Given the description of an element on the screen output the (x, y) to click on. 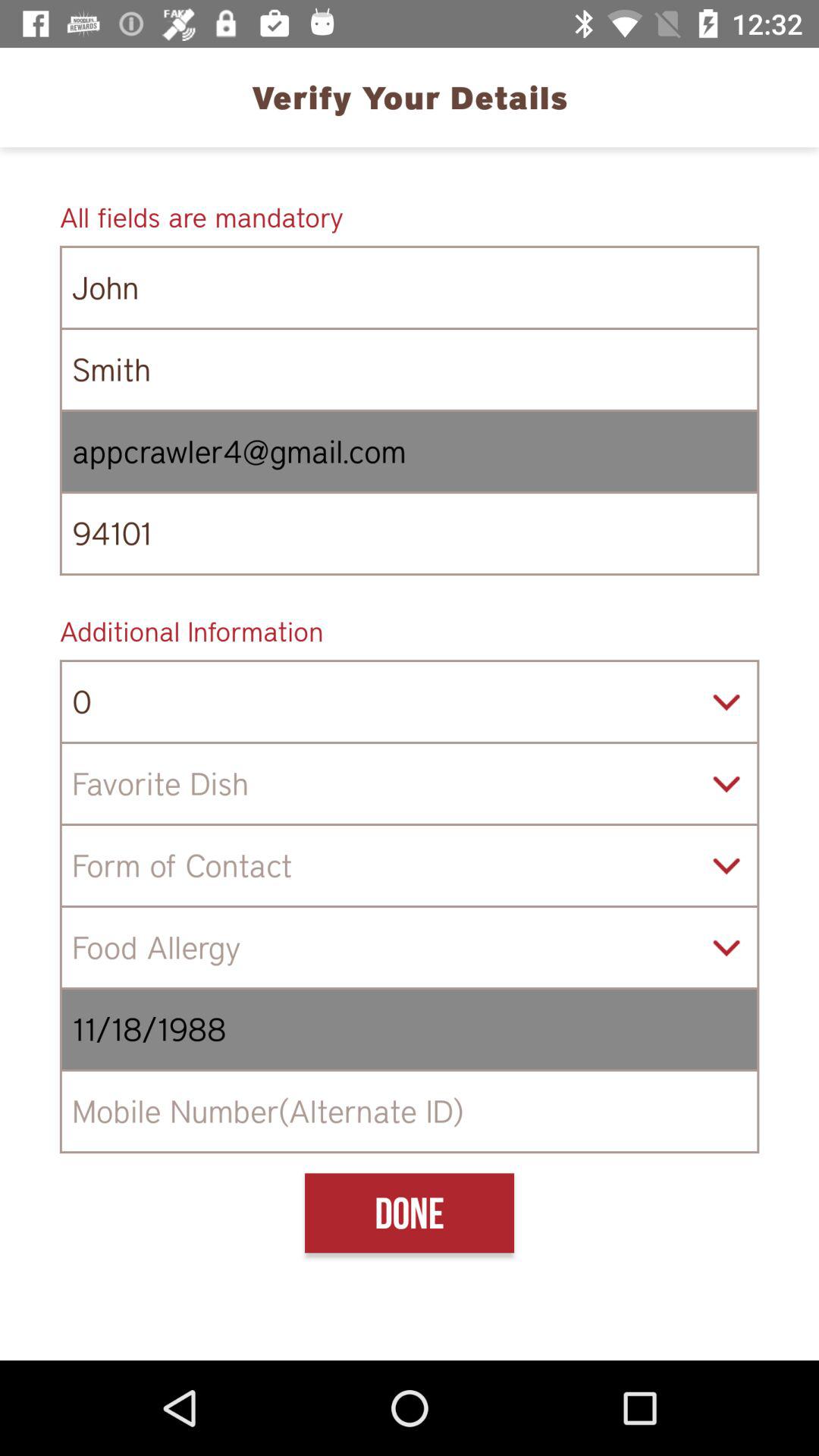
click on food allergy (409, 947)
